Given the description of an element on the screen output the (x, y) to click on. 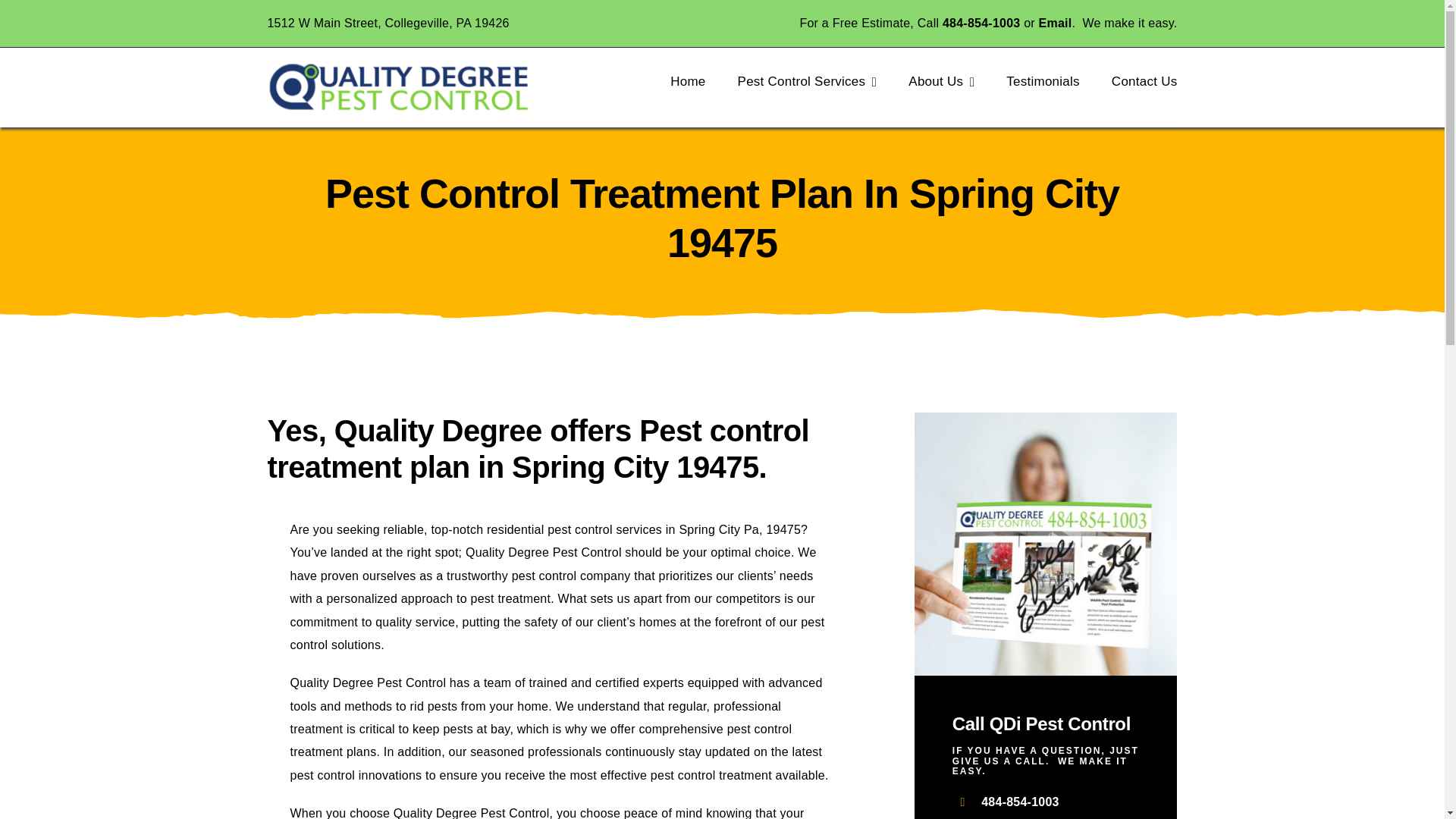
About Us (941, 81)
Testimonials (1043, 81)
Home (686, 81)
QDi Pest Control Offers Free Estimates (1045, 543)
484-854-1003 (981, 22)
Contact Us (1144, 81)
Email (1055, 22)
484-854-1003 (1020, 801)
Pest Control Services (807, 81)
